Given the description of an element on the screen output the (x, y) to click on. 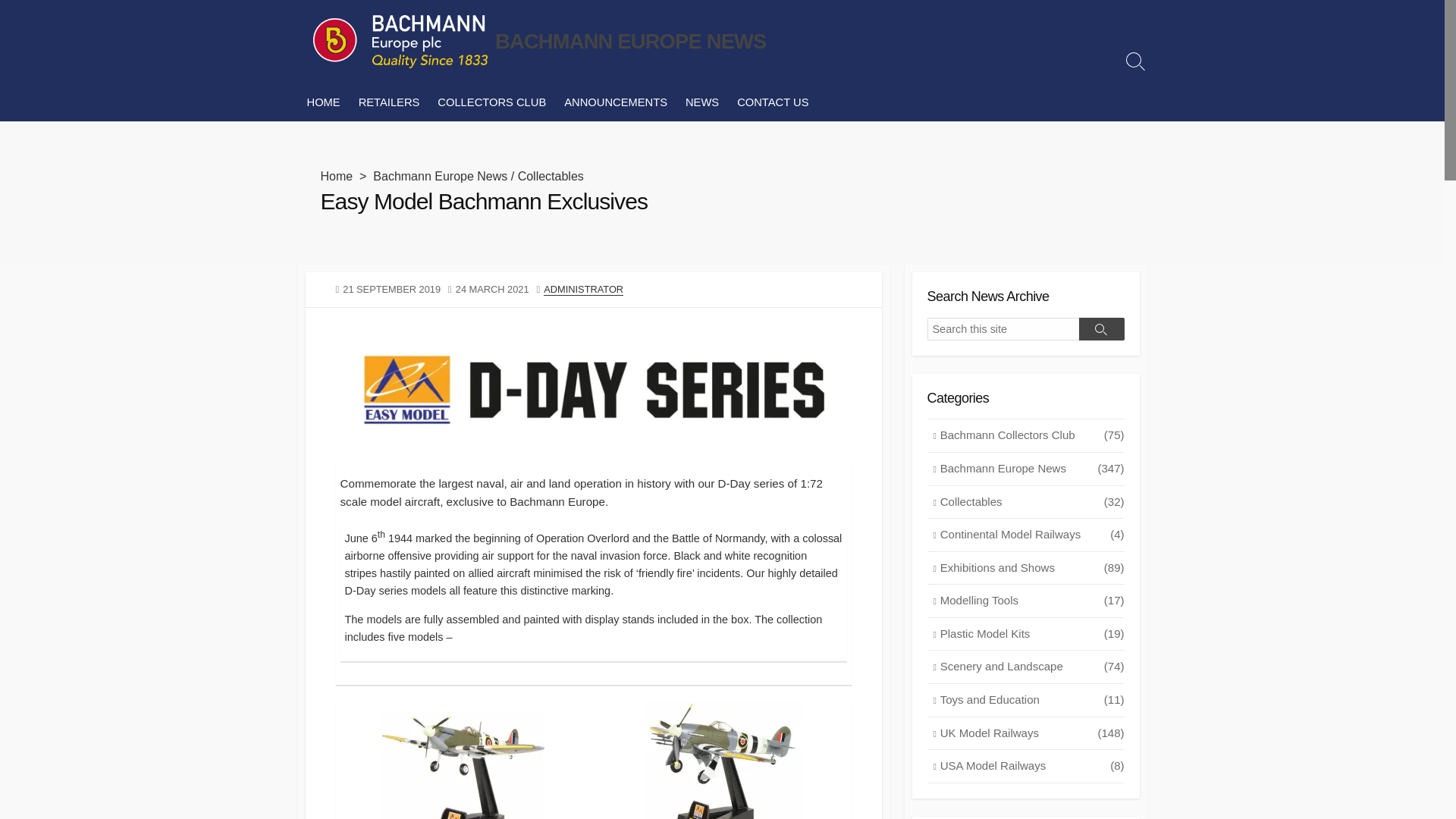
BACHMANN EUROPE NEWS (631, 41)
COLLECTORS CLUB (491, 102)
CONTACT US (772, 102)
BACHMANN EUROPE NEWS (631, 41)
Home (336, 175)
ANNOUNCEMENTS (615, 102)
Posts by Administrator (583, 288)
ADMINISTRATOR (583, 288)
BACHMANN EUROPE NEWS (399, 41)
NEWS (702, 102)
Collectables (550, 175)
HOME (323, 102)
Bachmann Europe News (439, 175)
RETAILERS (389, 102)
